Given the description of an element on the screen output the (x, y) to click on. 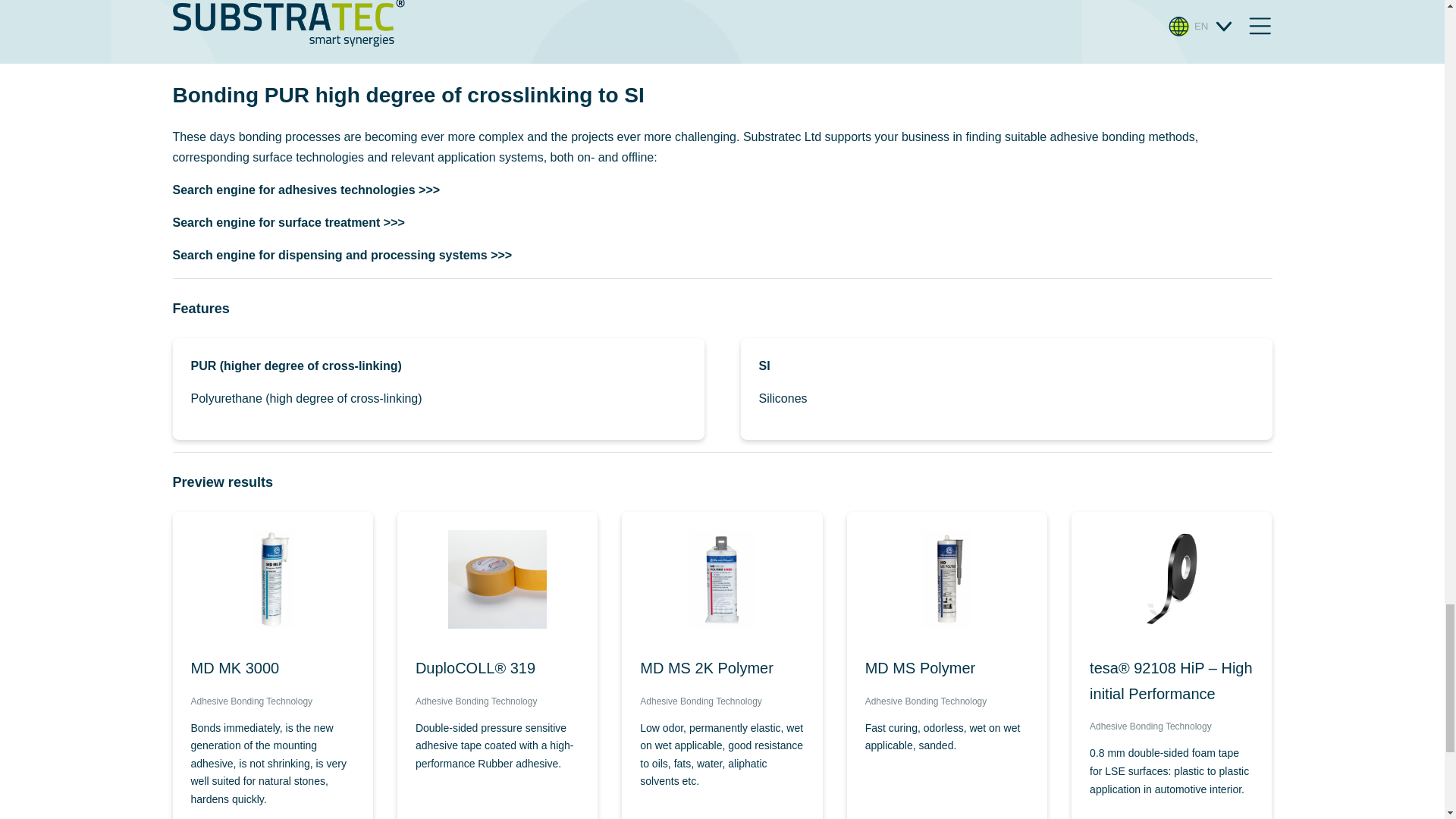
MD MK 3000 (272, 668)
MD MS Polymer (946, 668)
MD MS 2K Polymer (721, 668)
EN (1201, 26)
